Given the description of an element on the screen output the (x, y) to click on. 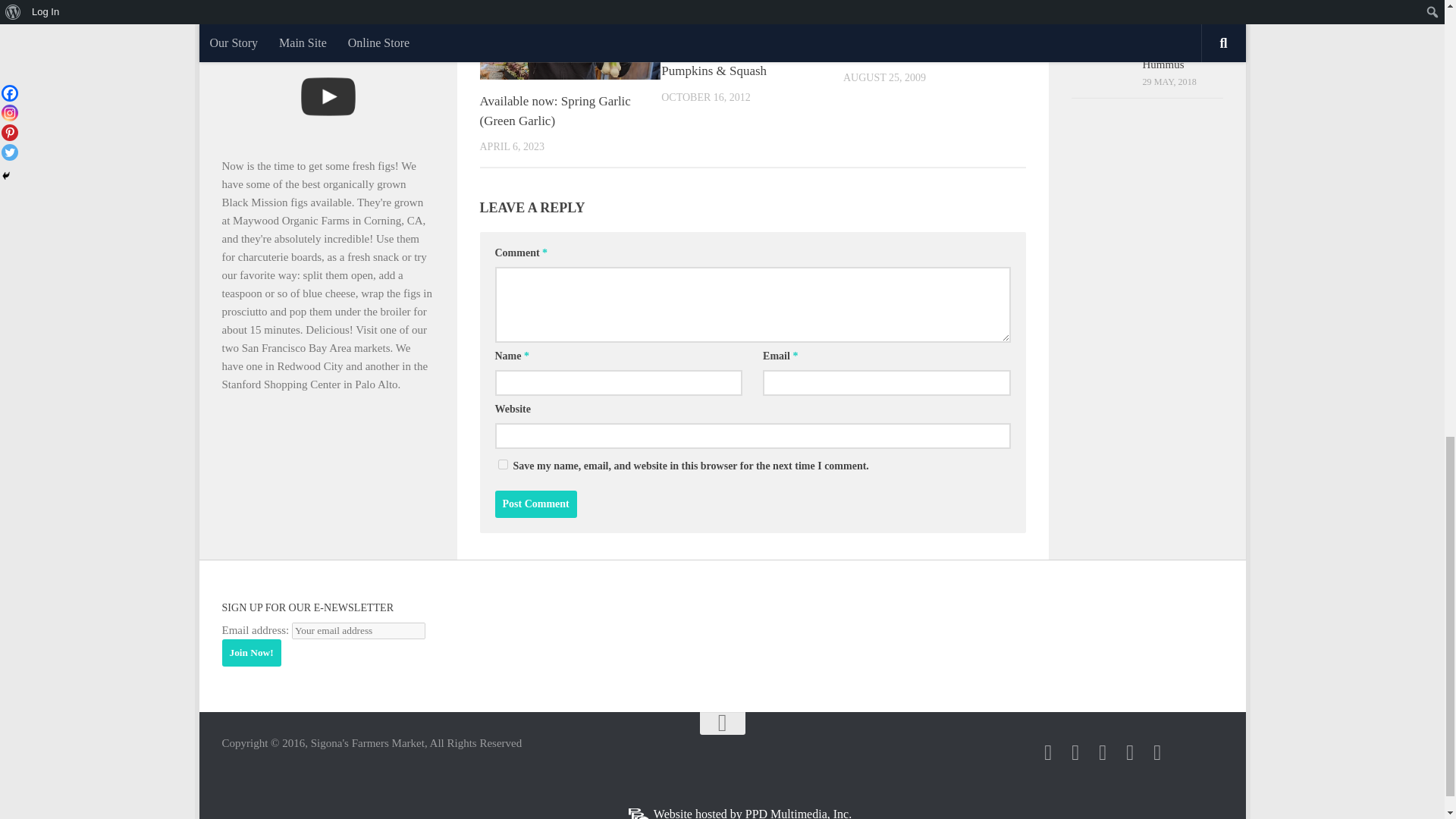
yes (501, 464)
Join Now! (251, 652)
Post Comment (535, 503)
